Given the description of an element on the screen output the (x, y) to click on. 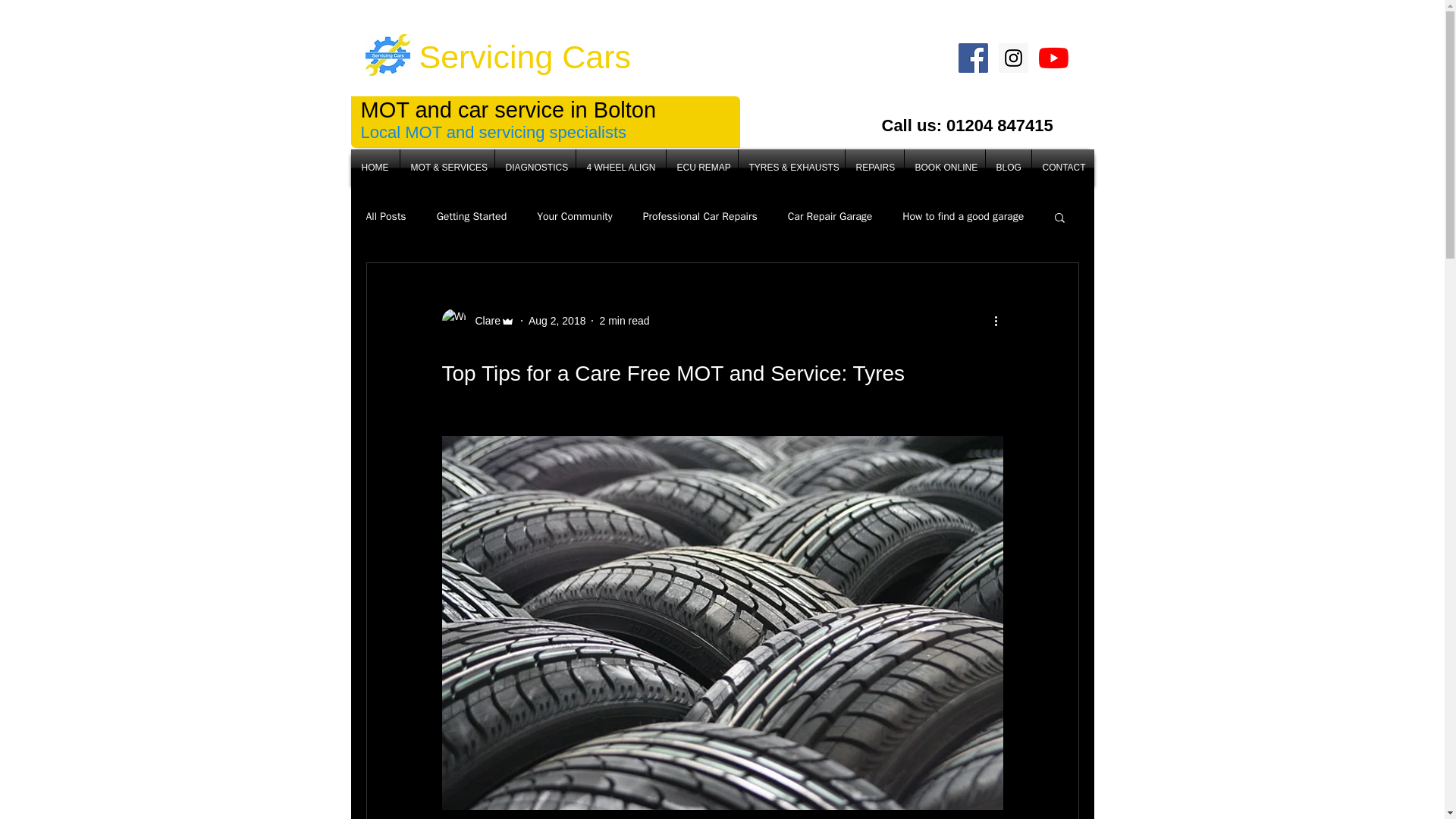
2 min read (623, 319)
DIAGNOSTICS (535, 167)
CONTACT (1061, 167)
MOT and car service in Bolton (508, 109)
BLOG (1007, 167)
Clare (477, 320)
Professional Car Repairs (700, 216)
Getting Started (471, 216)
Aug 2, 2018 (557, 319)
ECU REMAP (700, 167)
